Given the description of an element on the screen output the (x, y) to click on. 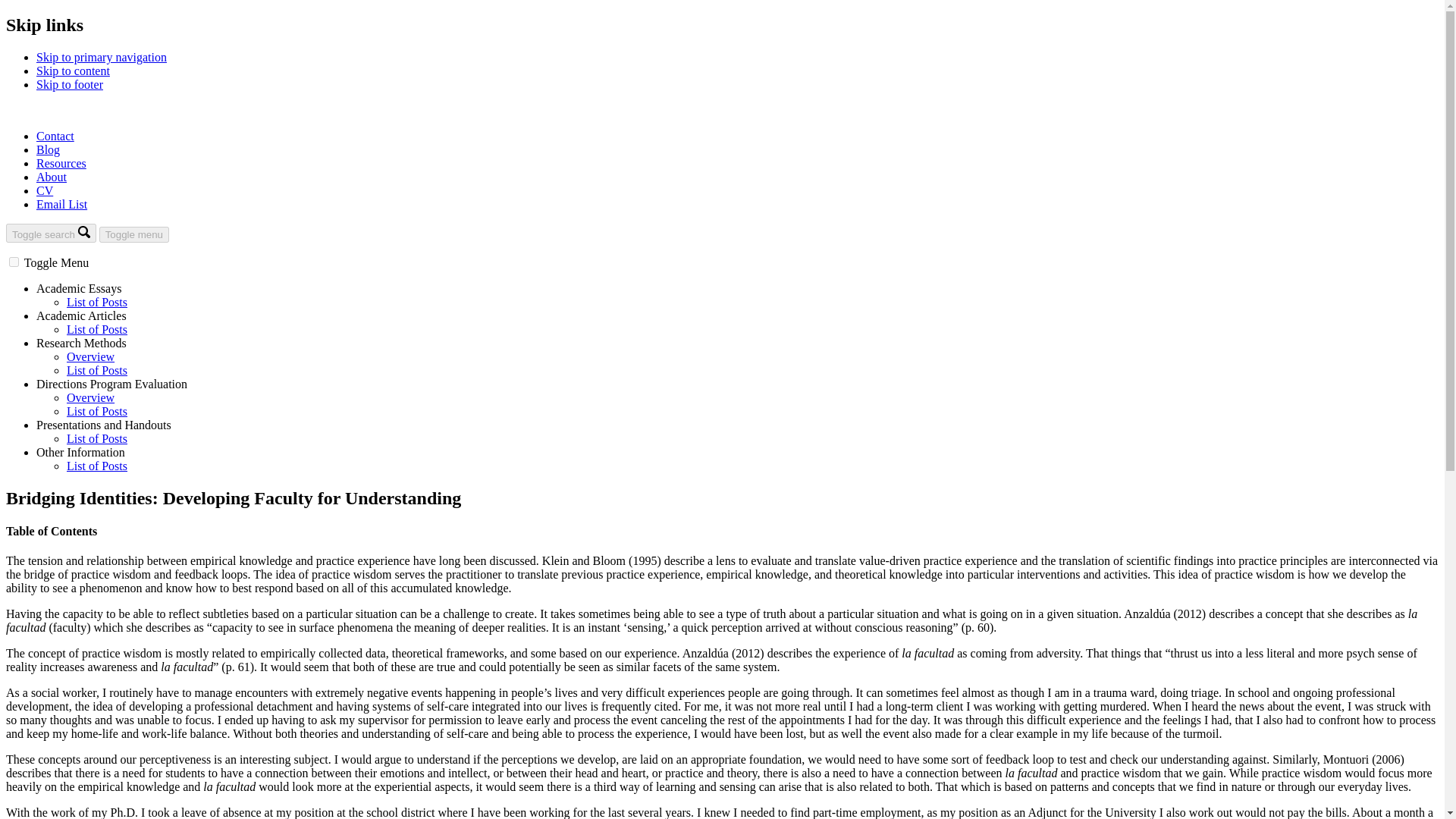
Blog (47, 149)
Email List (61, 204)
Toggle menu (133, 234)
on (13, 261)
Skip to primary navigation (101, 56)
Skip to footer (69, 83)
Toggle search (50, 232)
List of Posts (97, 410)
Skip to content (73, 70)
List of Posts (97, 301)
